Given the description of an element on the screen output the (x, y) to click on. 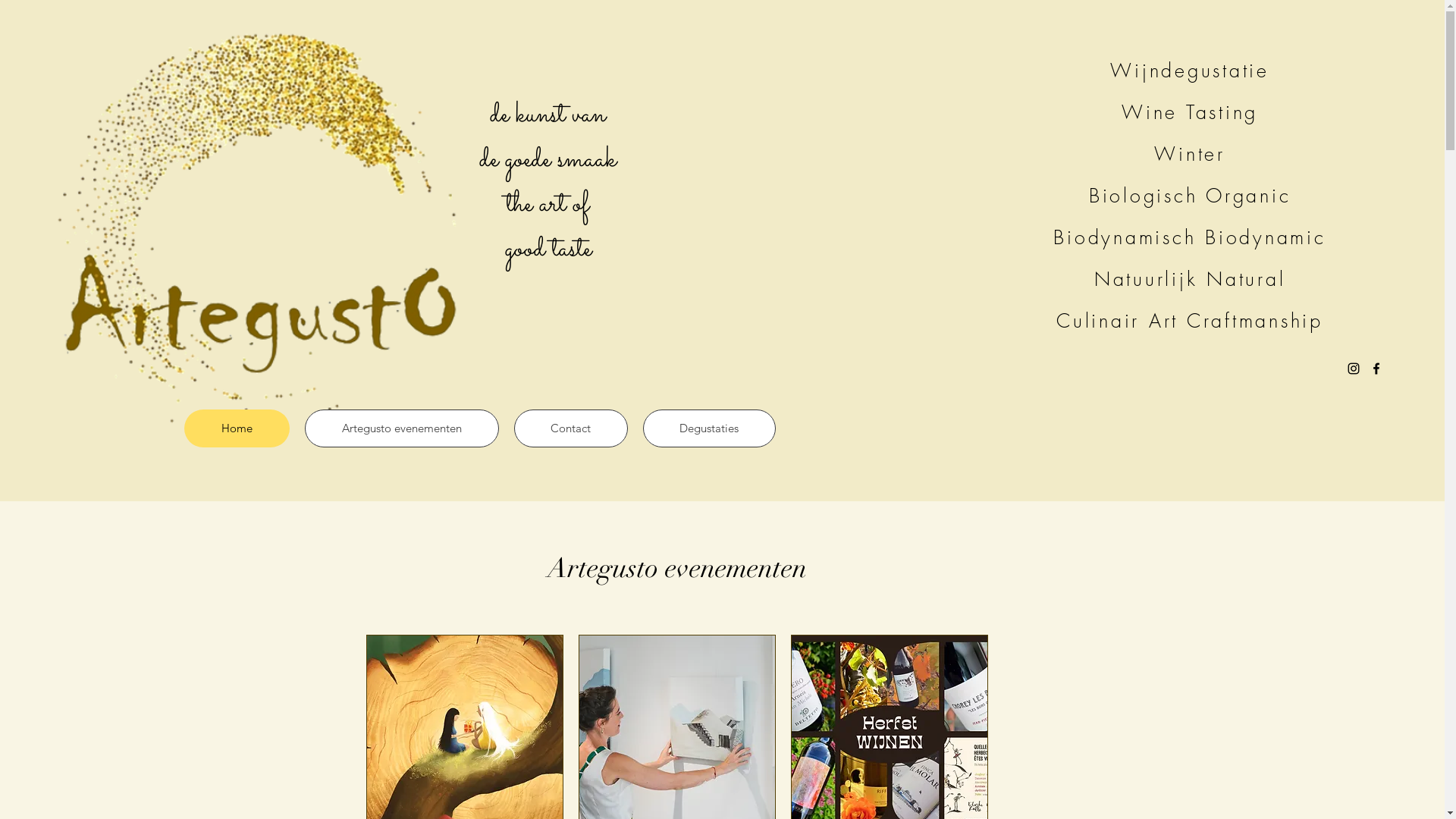
Artegusto evenementen Element type: text (401, 428)
Degustaties Element type: text (709, 428)
Contact Element type: text (570, 428)
Home Element type: text (235, 428)
